Given the description of an element on the screen output the (x, y) to click on. 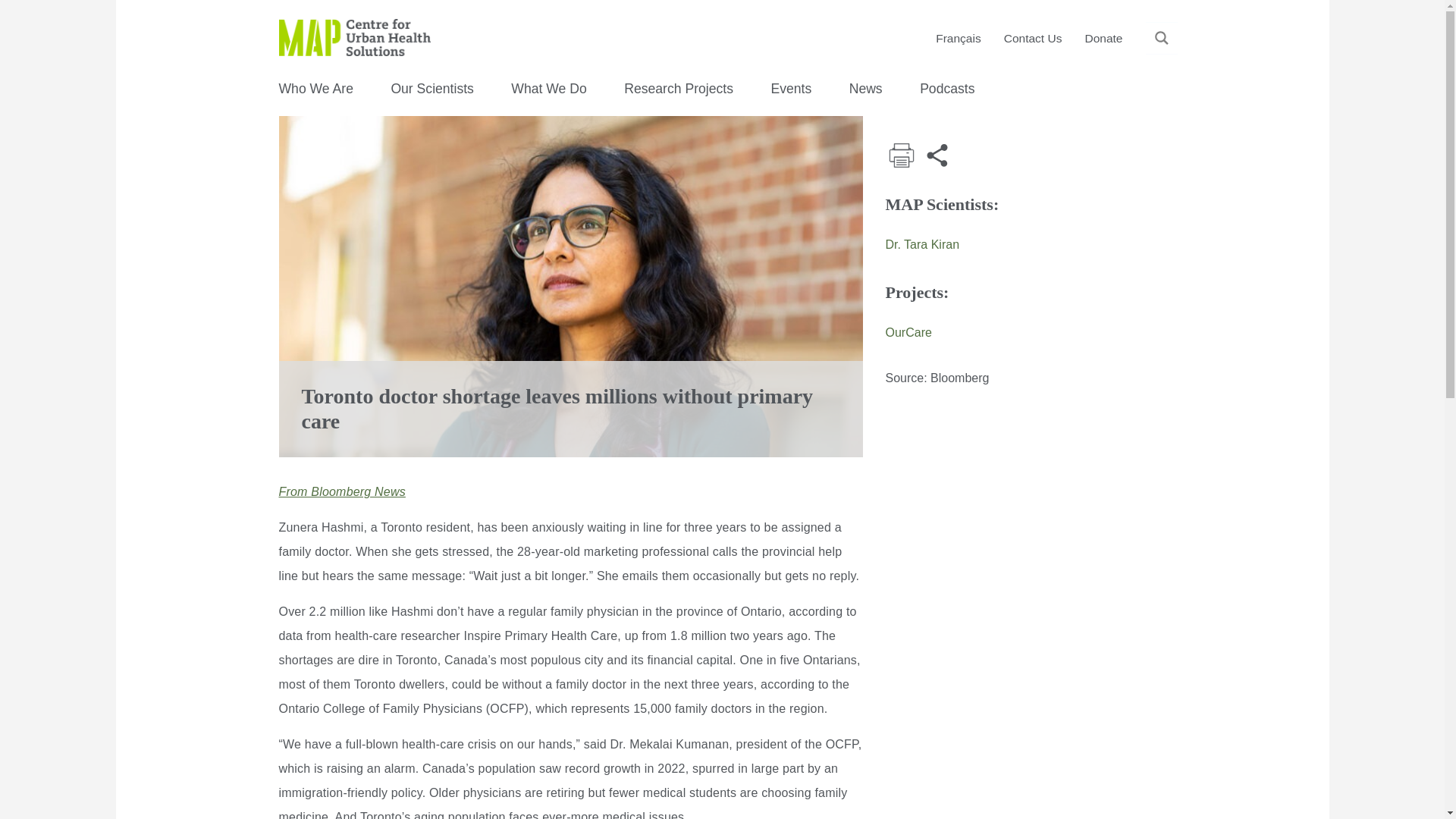
From Bloomberg News (342, 491)
Events (790, 88)
Our Scientists (432, 88)
News (865, 88)
Contact Us (1033, 38)
Podcasts (947, 88)
Research Projects (678, 88)
What We Do (548, 88)
Who We Are (316, 88)
Donate (1103, 38)
